Given the description of an element on the screen output the (x, y) to click on. 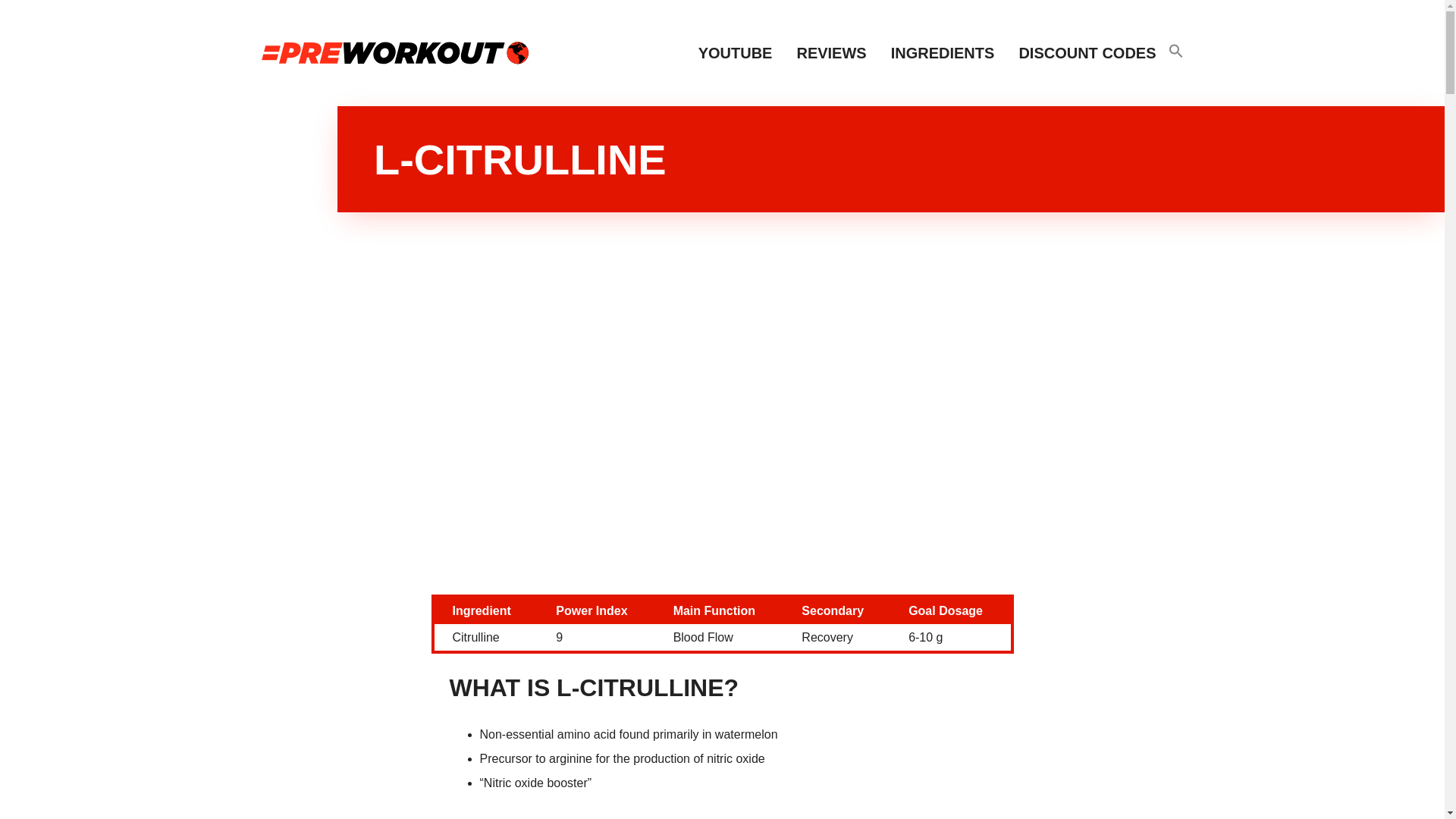
YOUTUBE (734, 52)
INGREDIENTS (943, 52)
DISCOUNT CODES (1086, 52)
REVIEWS (830, 52)
